Given the description of an element on the screen output the (x, y) to click on. 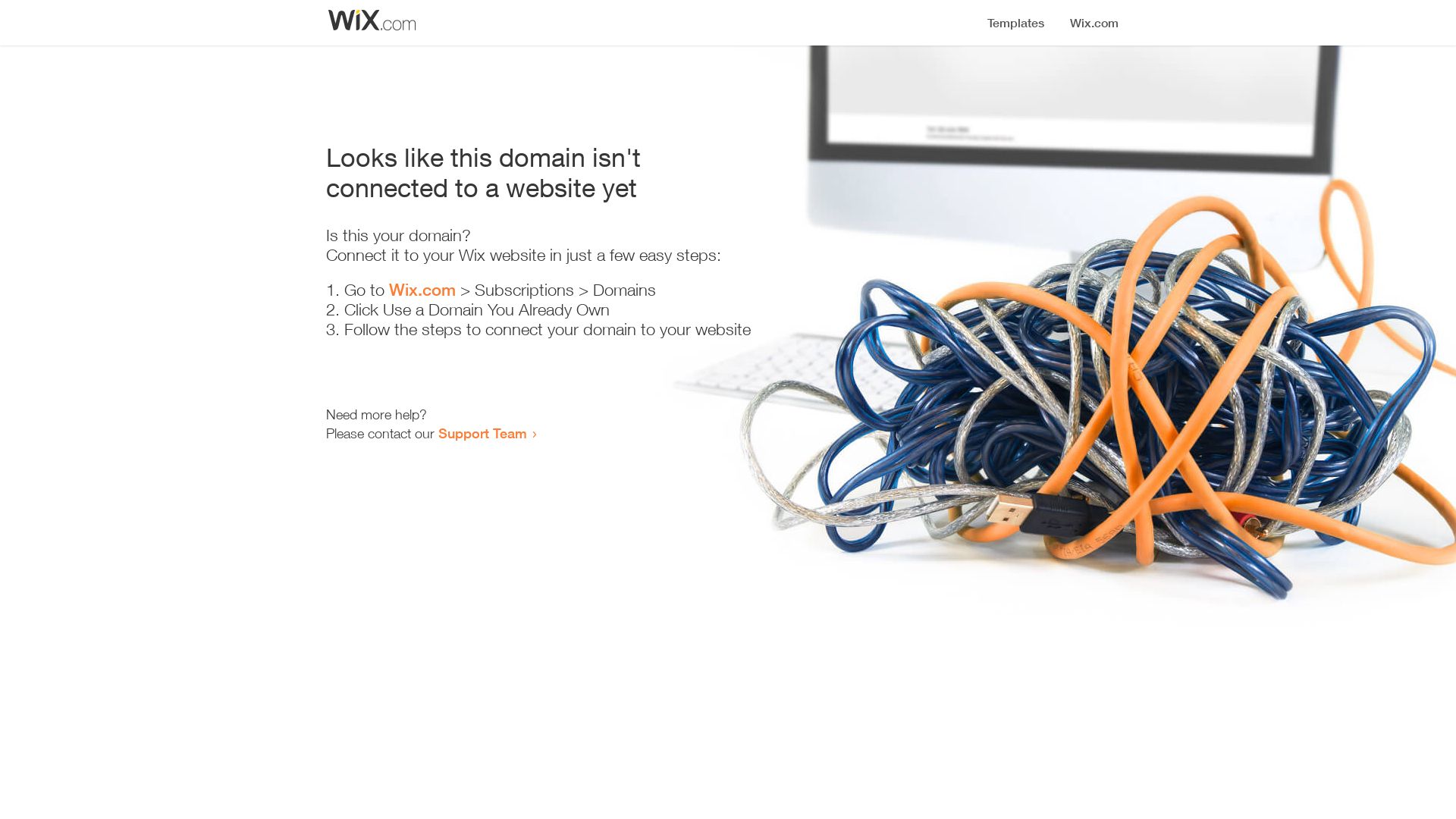
Wix.com Element type: text (422, 289)
Support Team Element type: text (482, 432)
